Given the description of an element on the screen output the (x, y) to click on. 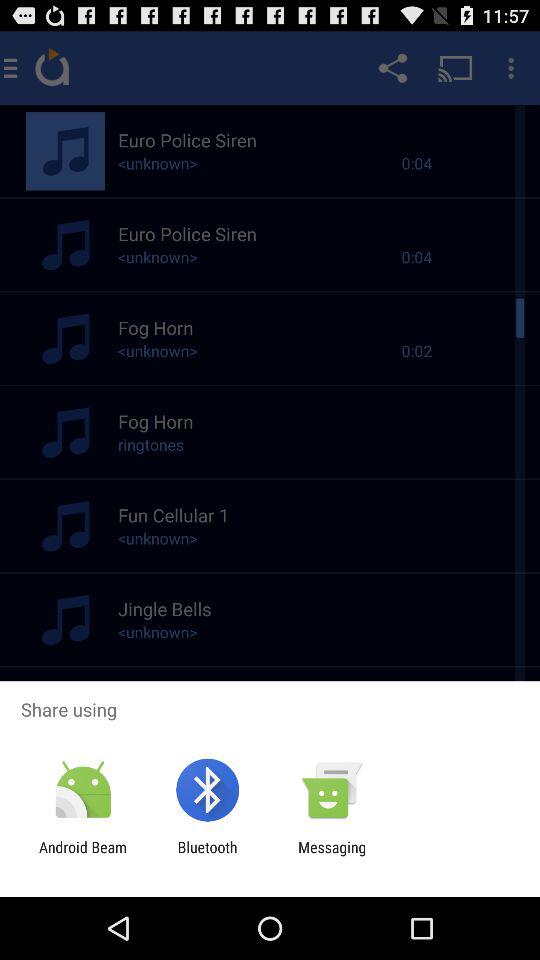
press the app to the left of the messaging (207, 856)
